Given the description of an element on the screen output the (x, y) to click on. 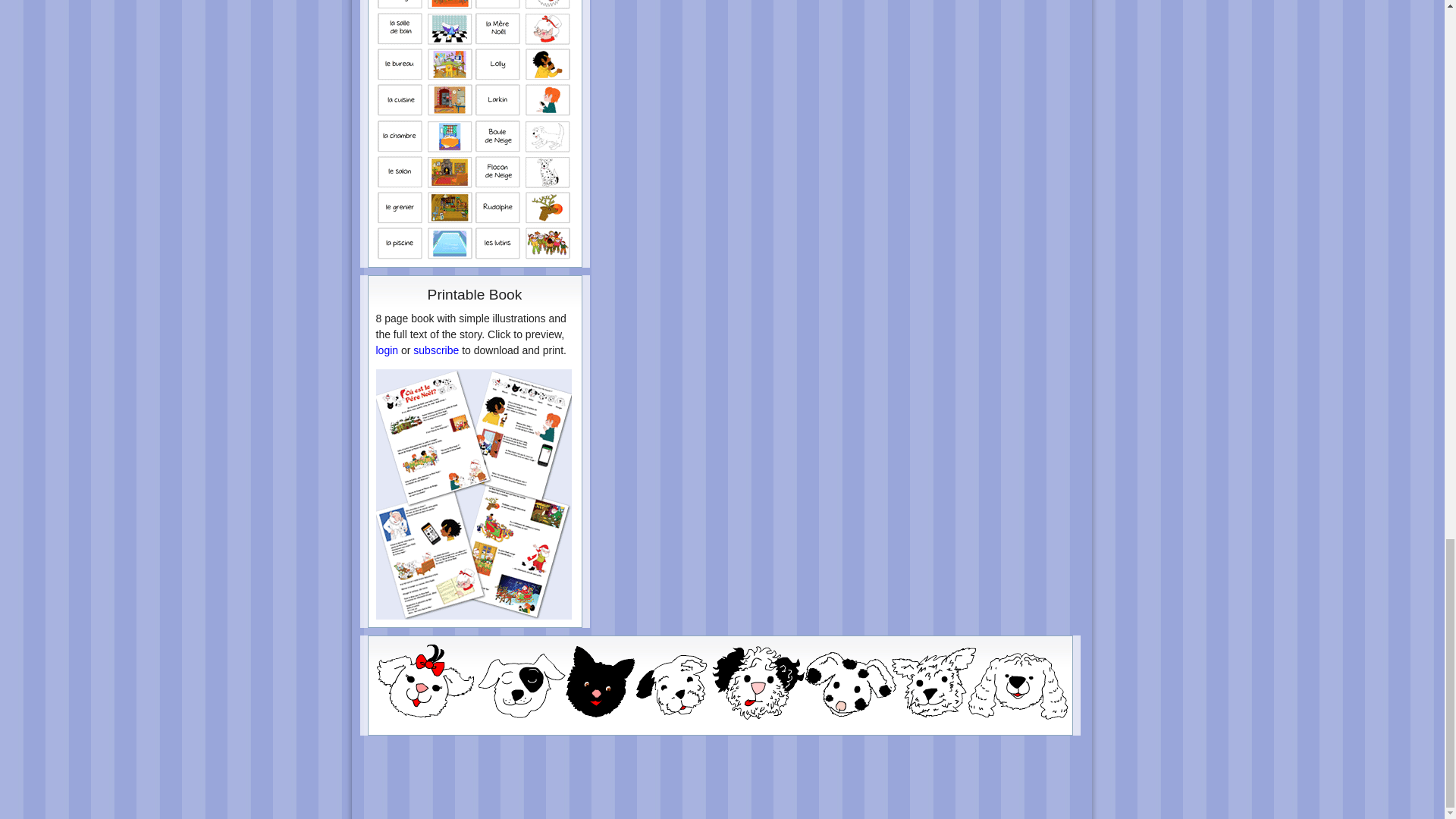
login (386, 349)
subscribe (435, 349)
